Given the description of an element on the screen output the (x, y) to click on. 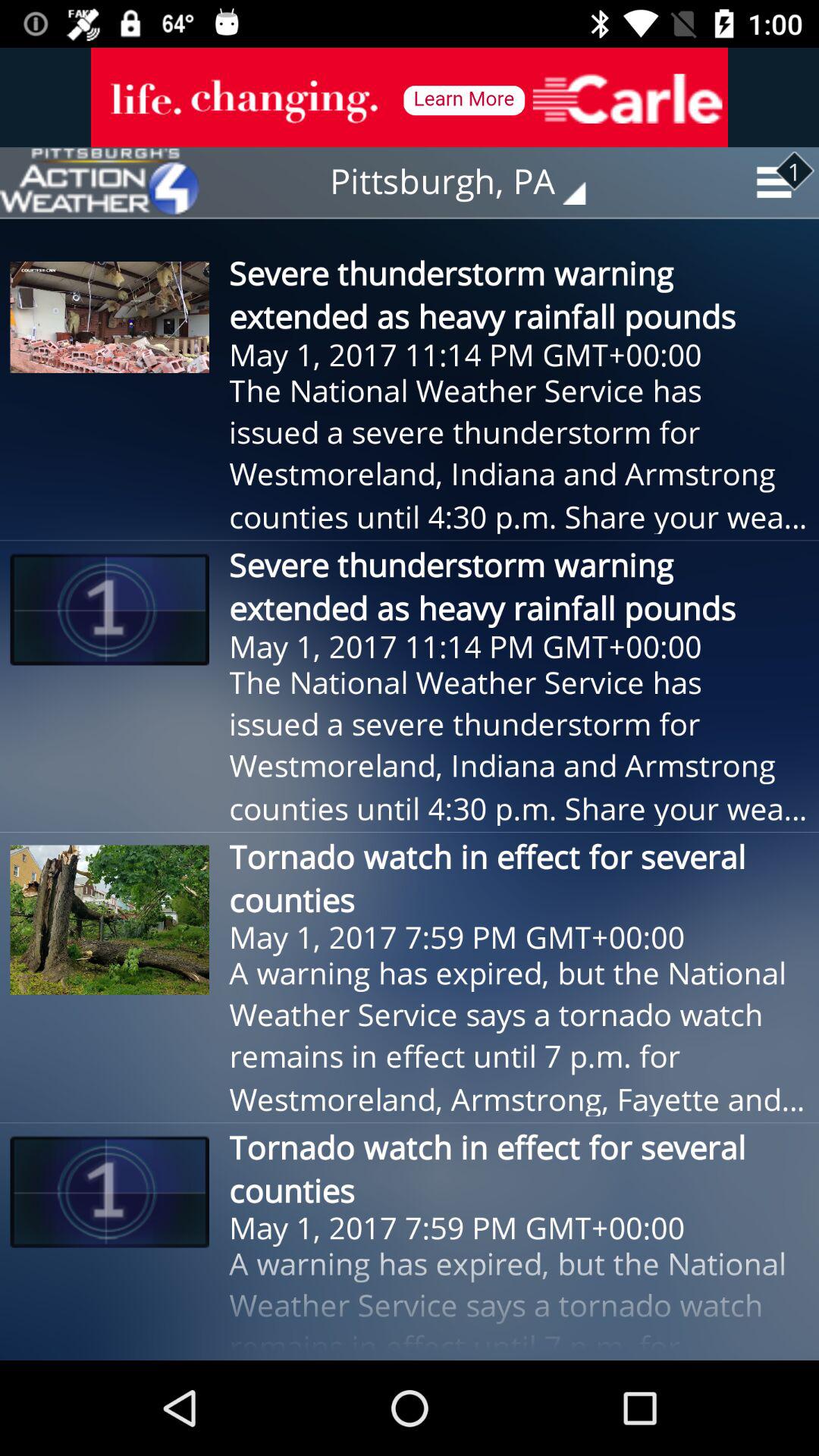
jump until pittsburgh, pa icon (468, 182)
